Given the description of an element on the screen output the (x, y) to click on. 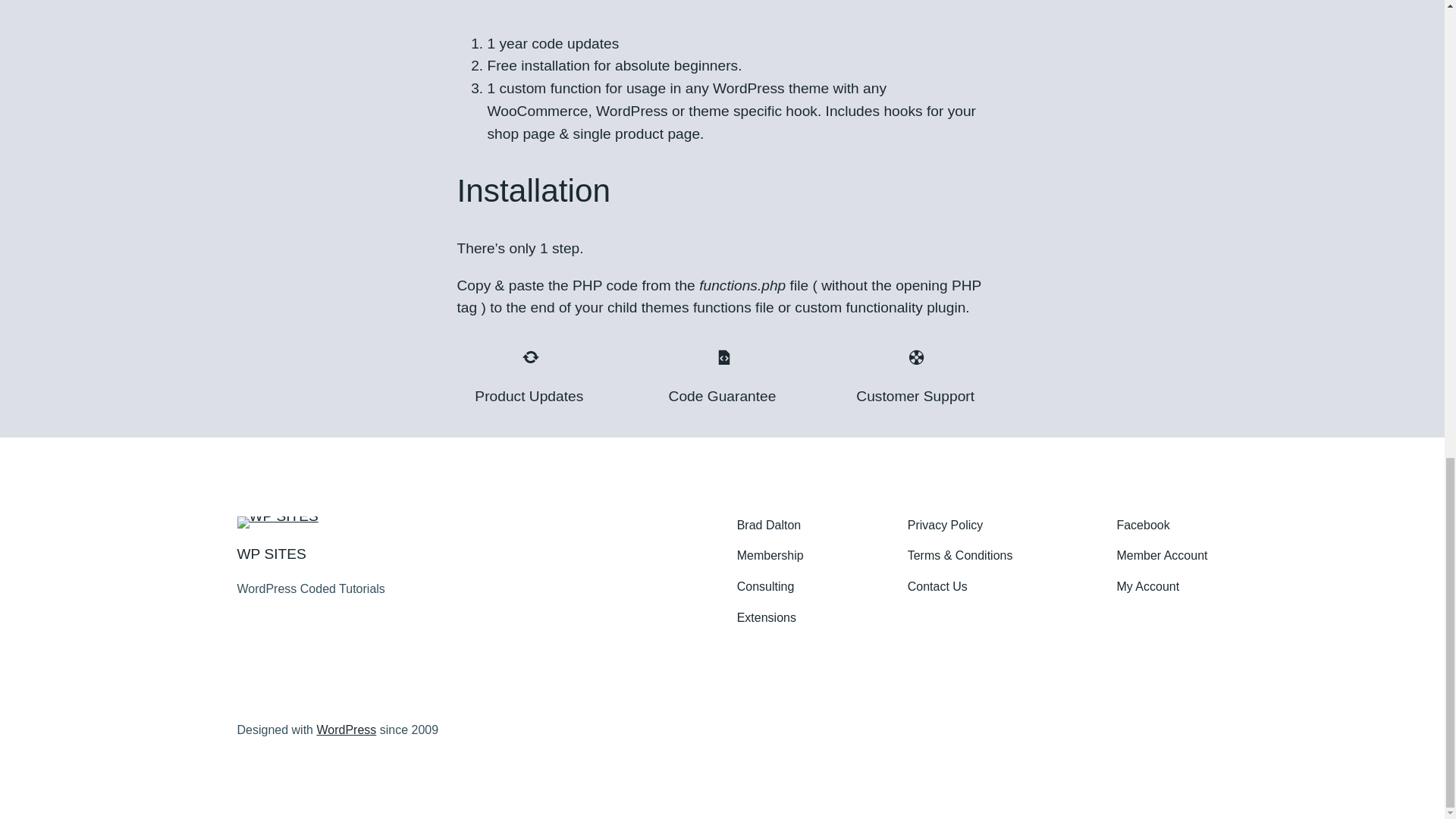
Consulting (765, 587)
WP SITES (270, 553)
My Account (1147, 587)
Contact Us (937, 587)
Privacy Policy (945, 525)
Membership (769, 556)
Brad Dalton (769, 525)
Extensions (766, 618)
Facebook (1142, 525)
WordPress (345, 729)
